Given the description of an element on the screen output the (x, y) to click on. 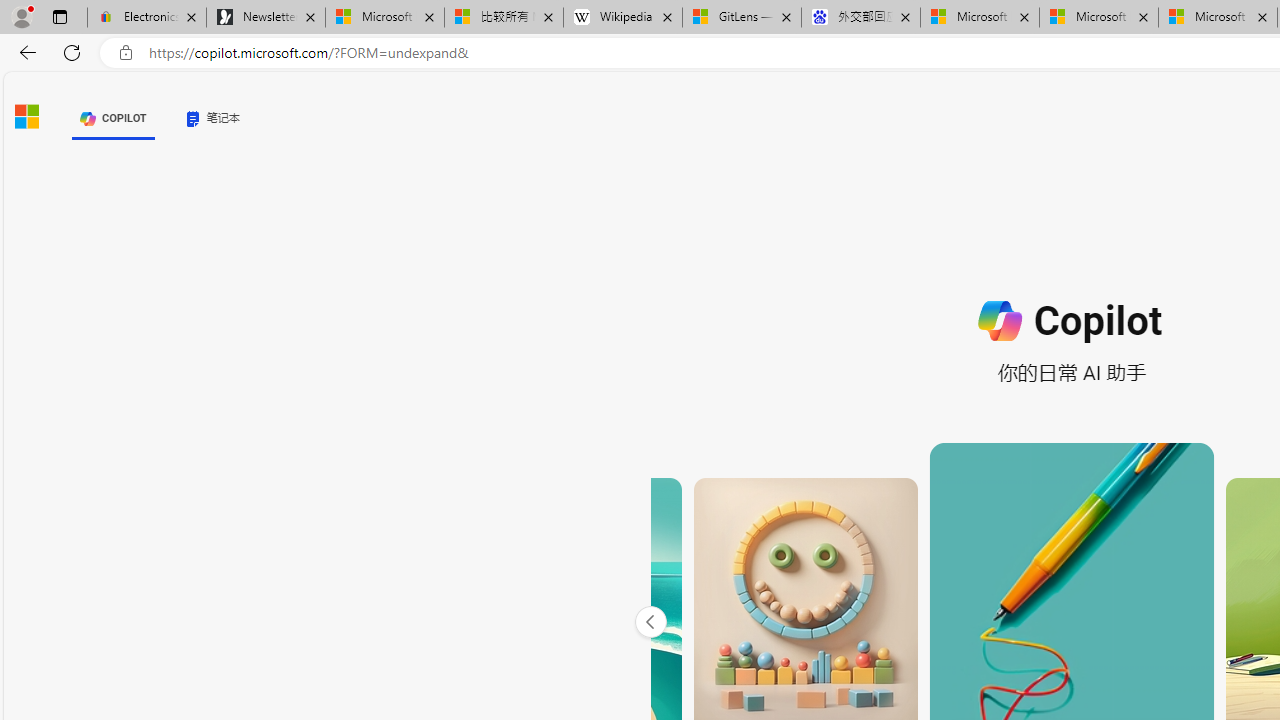
COPILOT (112, 118)
Newsletter Sign Up (266, 17)
